Given the description of an element on the screen output the (x, y) to click on. 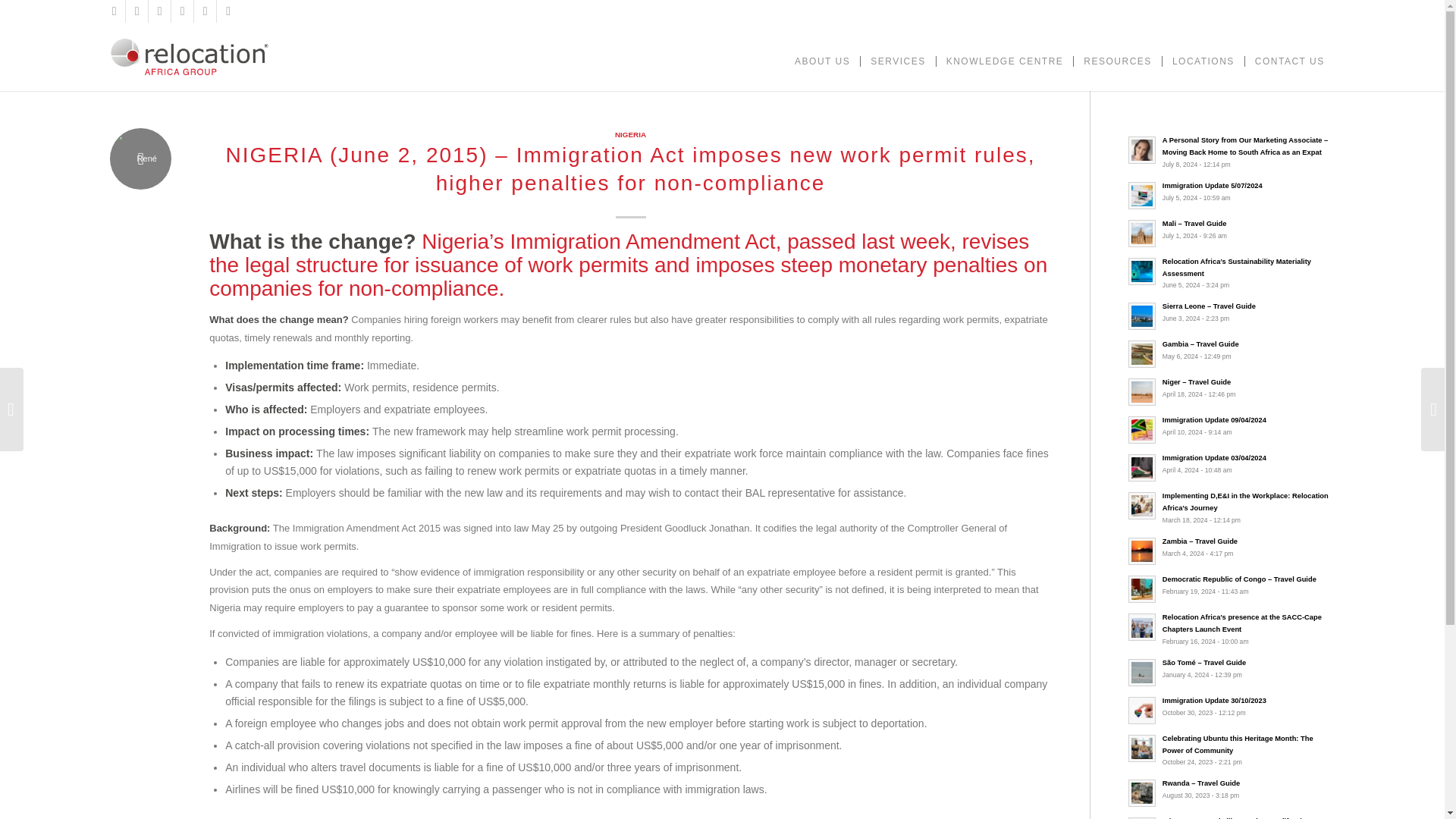
CONTACT US (1289, 56)
NIGERIA (630, 134)
Twitter (136, 11)
RESOURCES (1117, 56)
Instagram (182, 11)
Youtube (204, 11)
LOCATIONS (1202, 56)
LinkedIn (159, 11)
Mail (228, 11)
SERVICES (897, 56)
KNOWLEDGE CENTRE (1005, 56)
Facebook (114, 11)
relocationafricagroup (189, 56)
ABOUT US (822, 56)
